Given the description of an element on the screen output the (x, y) to click on. 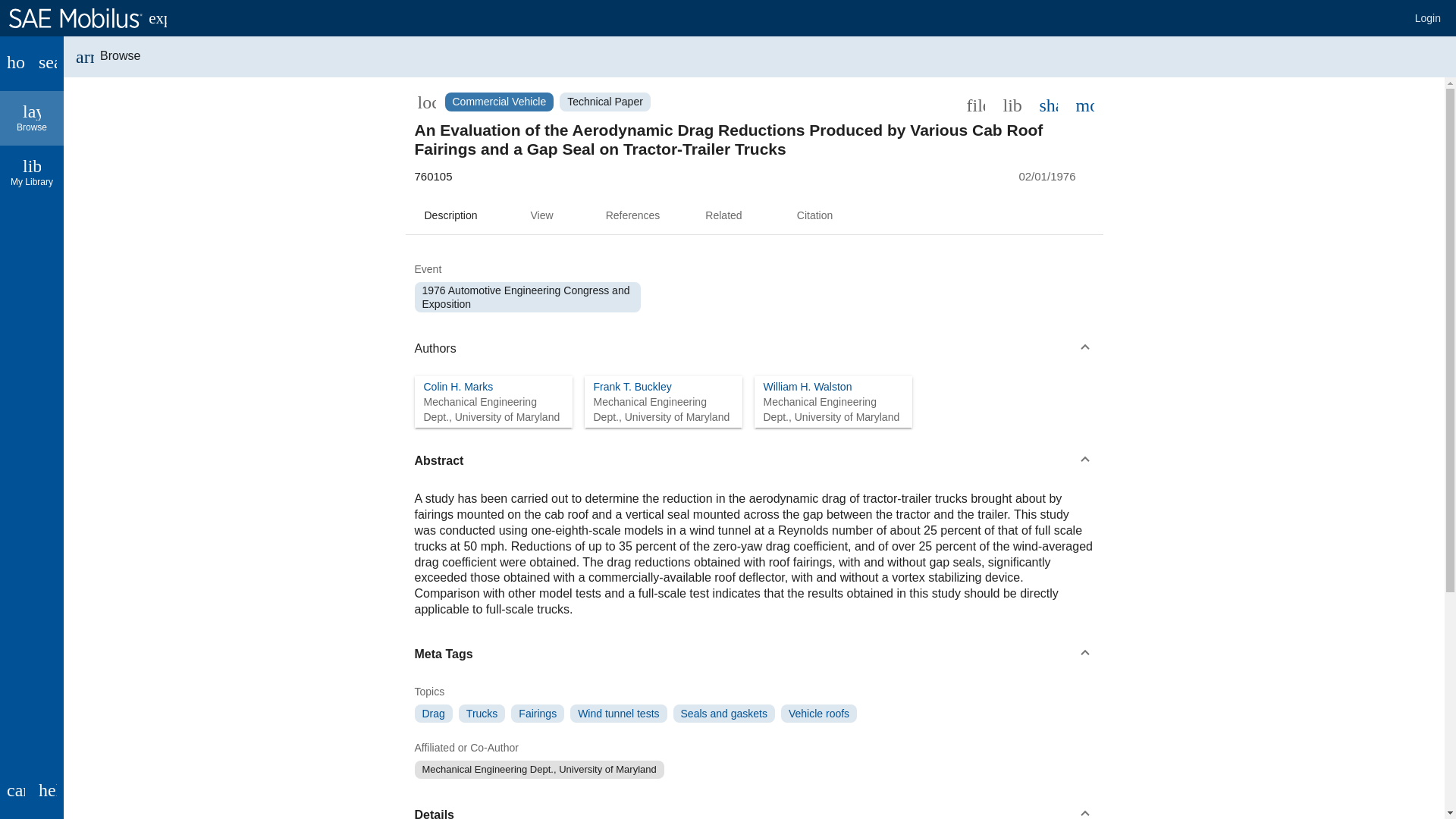
Login (1428, 17)
Related (723, 216)
William H. Walston (806, 386)
Colin H. Marks (458, 386)
Mechanical Engineering Dept., University of Maryland (538, 769)
Commercial Vehicle (498, 101)
Vehicle roofs (32, 117)
share (818, 713)
Seals and gaskets (1047, 104)
Technical Paper (723, 713)
Citation (604, 101)
Frank T. Buckley (814, 216)
View (631, 386)
